Given the description of an element on the screen output the (x, y) to click on. 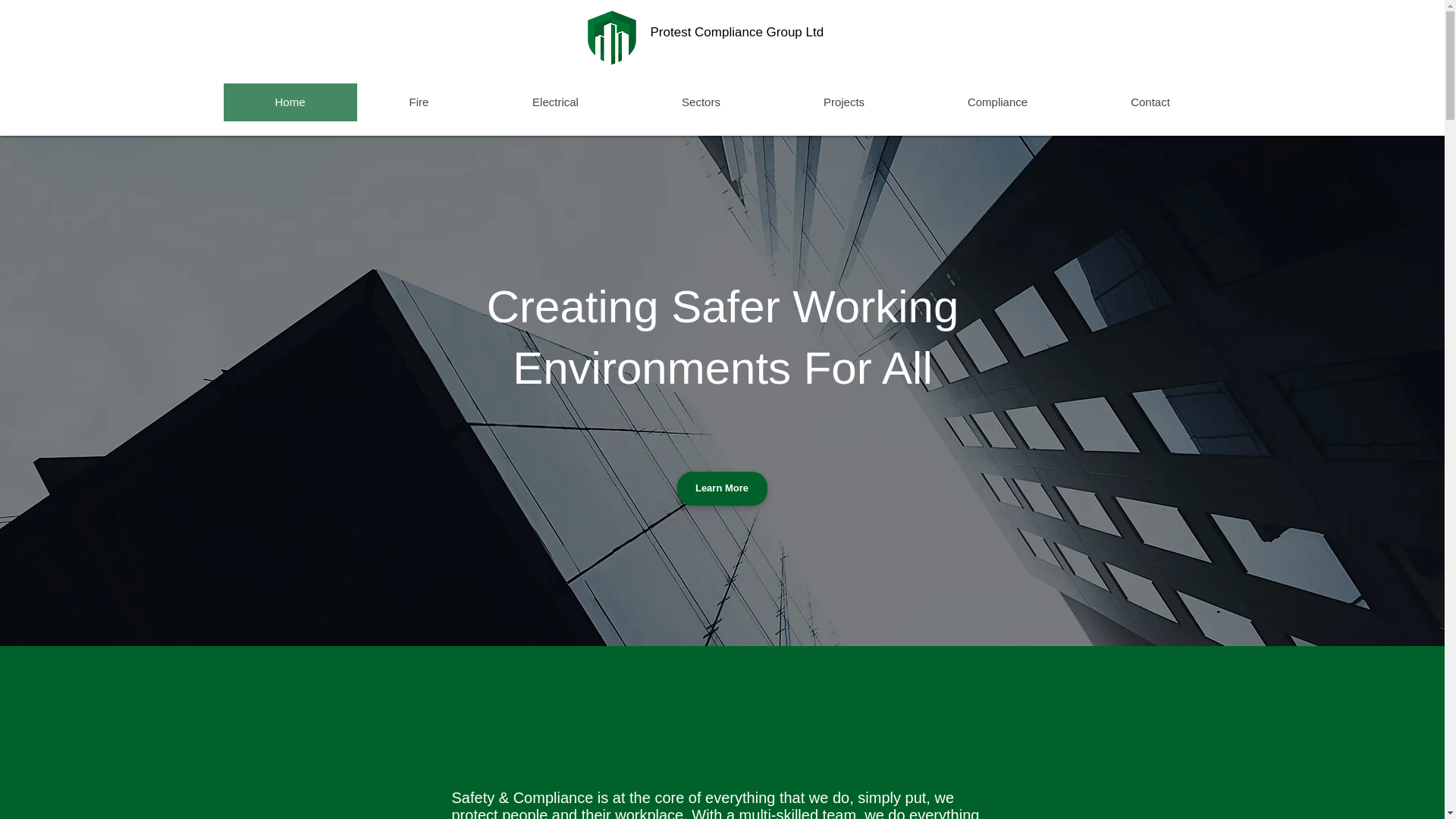
Learn More (722, 488)
Sectors (699, 102)
Home (289, 102)
Electrical (555, 102)
Contact (1149, 102)
Fire (418, 102)
Projects (843, 102)
Compliance (996, 102)
